Given the description of an element on the screen output the (x, y) to click on. 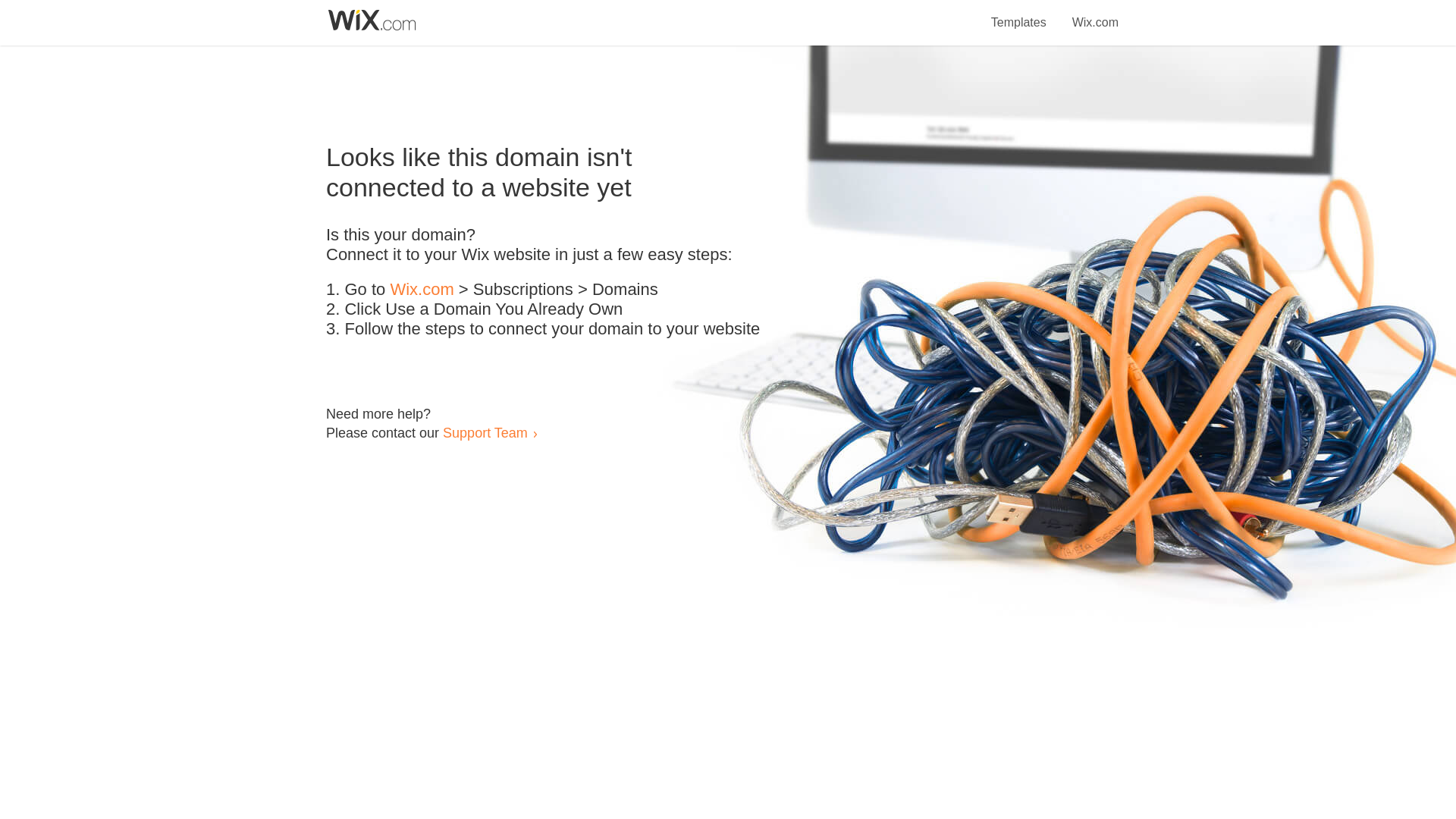
Templates (1018, 14)
Wix.com (1095, 14)
Wix.com (421, 289)
Support Team (484, 432)
